Given the description of an element on the screen output the (x, y) to click on. 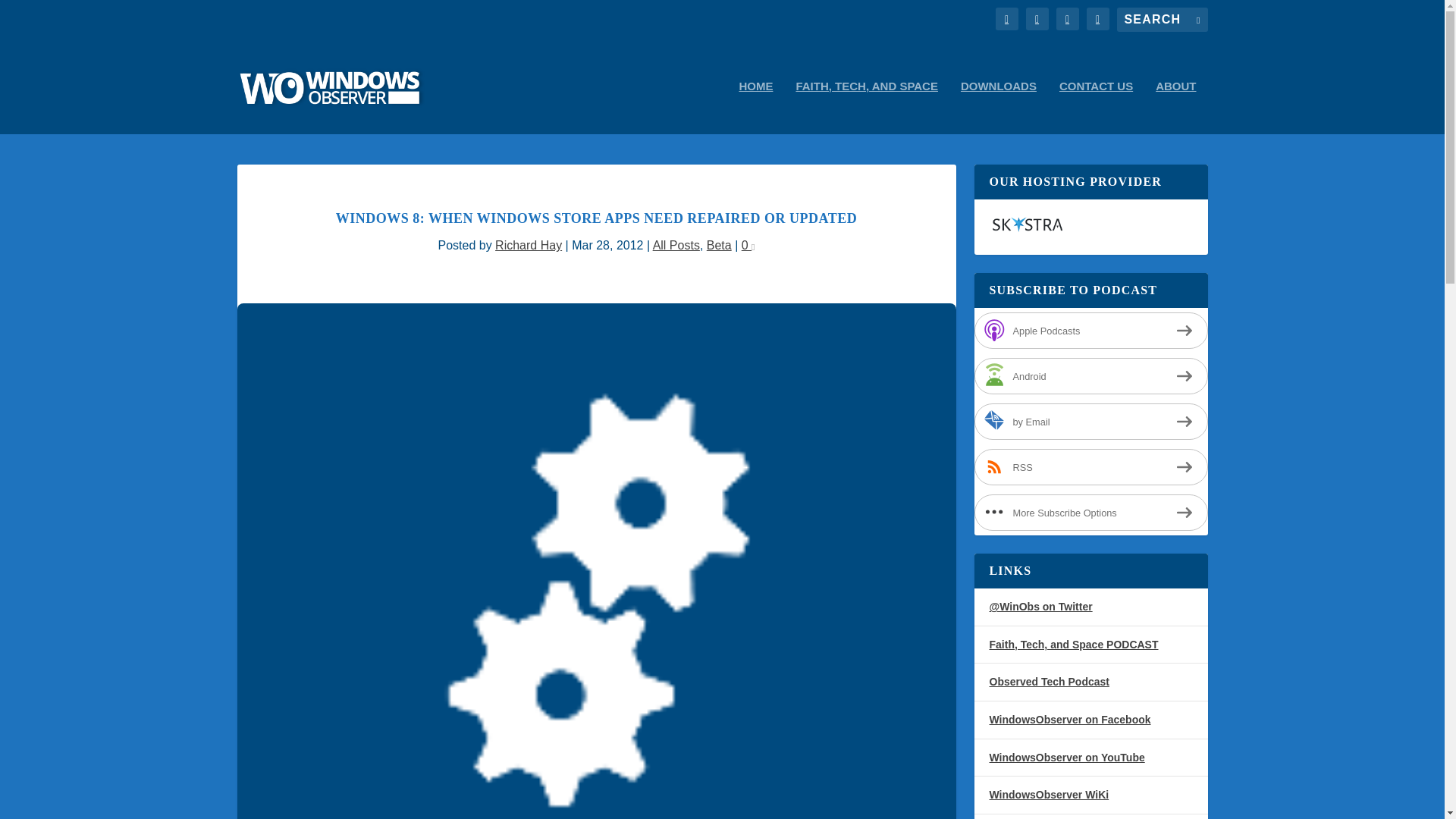
ABOUT (1175, 107)
DOWNLOADS (998, 107)
Richard Hay (528, 245)
All Posts (676, 245)
FAITH, TECH, AND SPACE (865, 107)
comment count (752, 246)
Beta (719, 245)
CONTACT US (1095, 107)
0 (748, 245)
HOME (755, 107)
Posts by Richard Hay (528, 245)
Search for: (1161, 19)
